Given the description of an element on the screen output the (x, y) to click on. 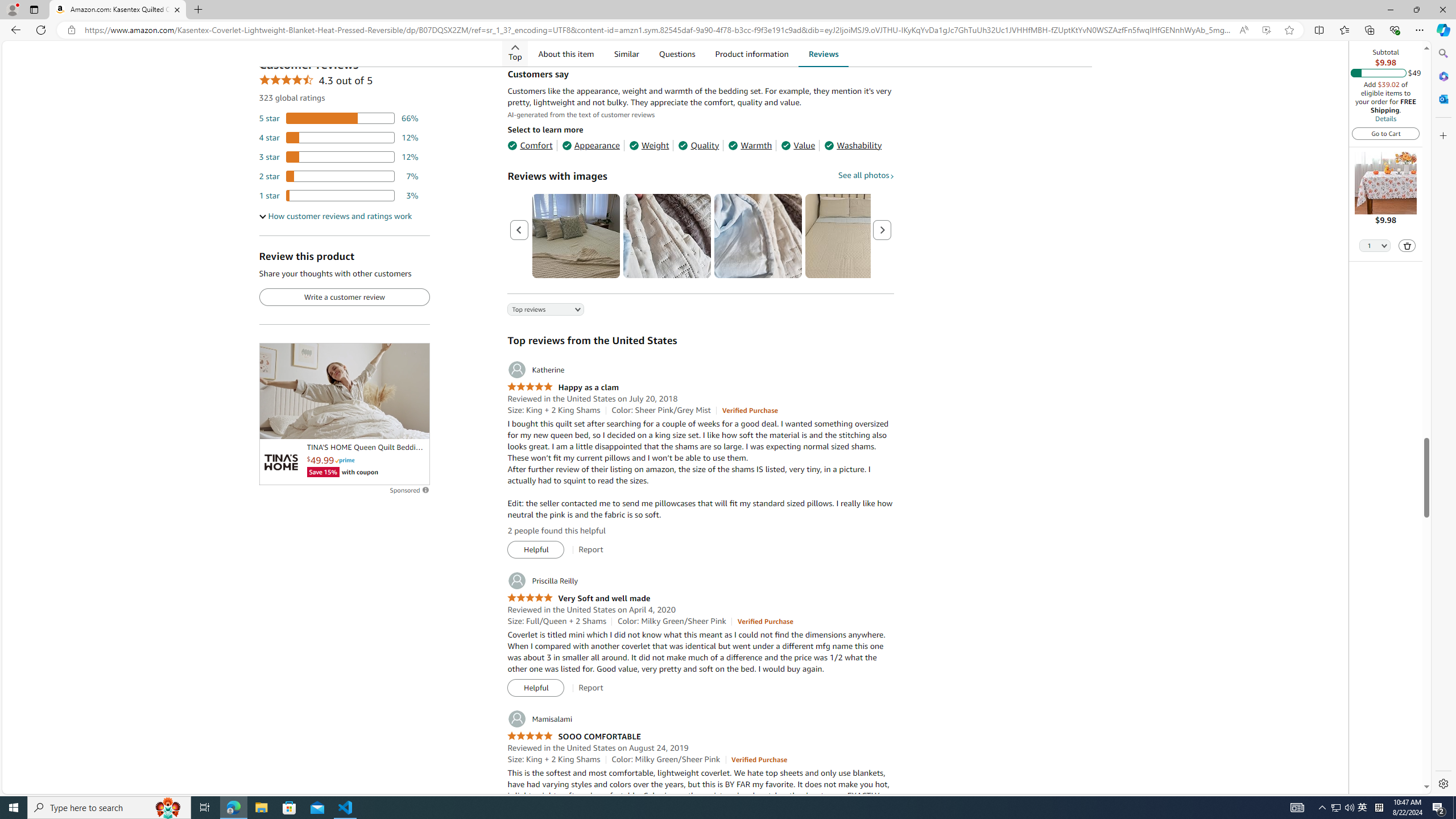
Value (797, 145)
About this item (565, 53)
12 percent of reviews have 3 stars (339, 156)
Priscilla Reilly (542, 580)
Class: a-carousel-card (757, 235)
See all photos (865, 174)
Top (515, 53)
5.0 out of 5 stars Very Soft and well made (578, 598)
Weight (648, 145)
3 percent of reviews have 1 stars (339, 195)
